Given the description of an element on the screen output the (x, y) to click on. 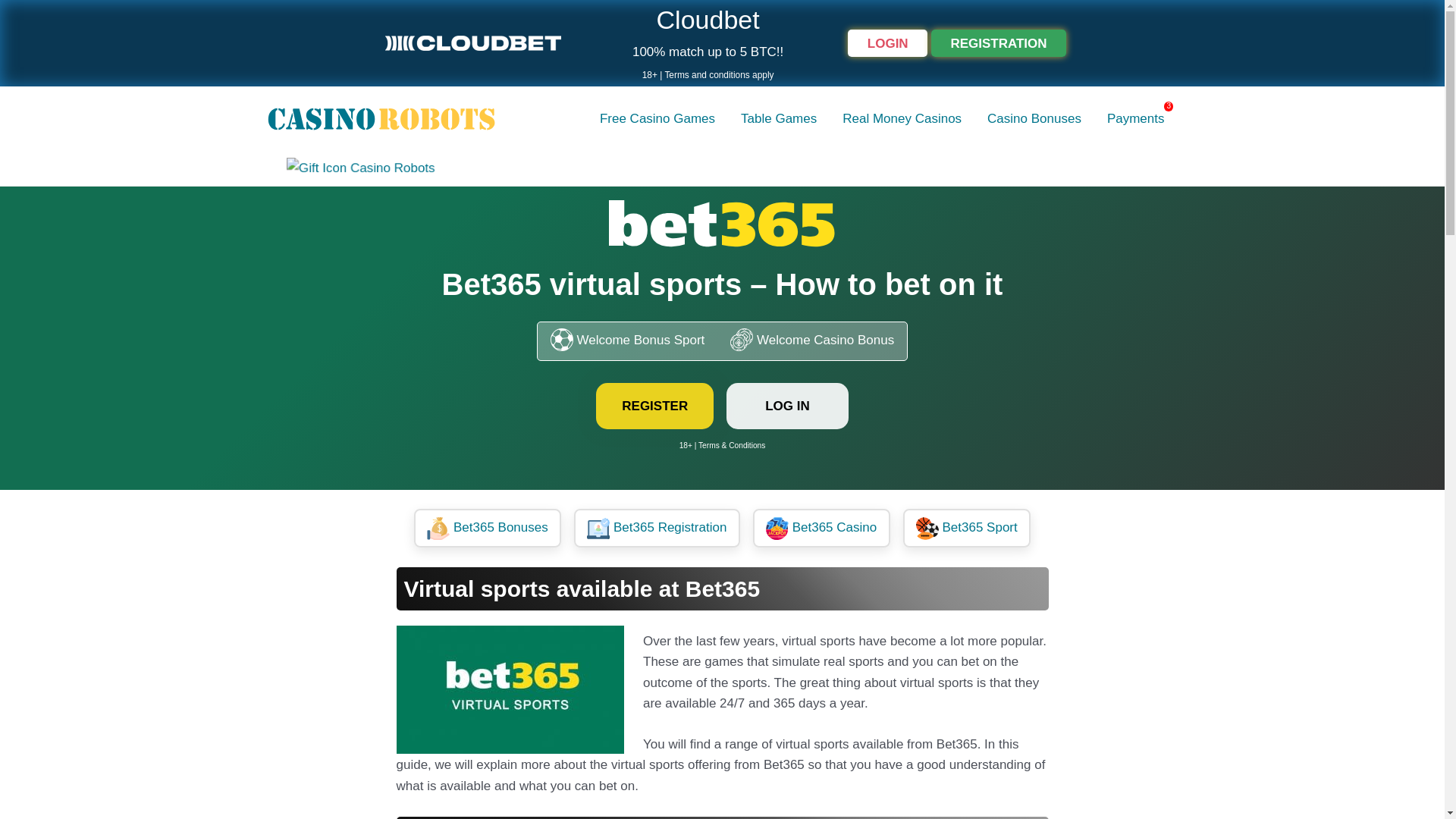
LOG IN (787, 405)
Bet365 Bonuses (487, 528)
Real Money Casinos (901, 118)
Free Casino Games (657, 118)
Table Games (778, 118)
Casino Bonuses (1034, 118)
Payments (1135, 118)
Bet365 Casino (820, 528)
Bet365 Sport (966, 528)
REGISTER (654, 405)
